Given the description of an element on the screen output the (x, y) to click on. 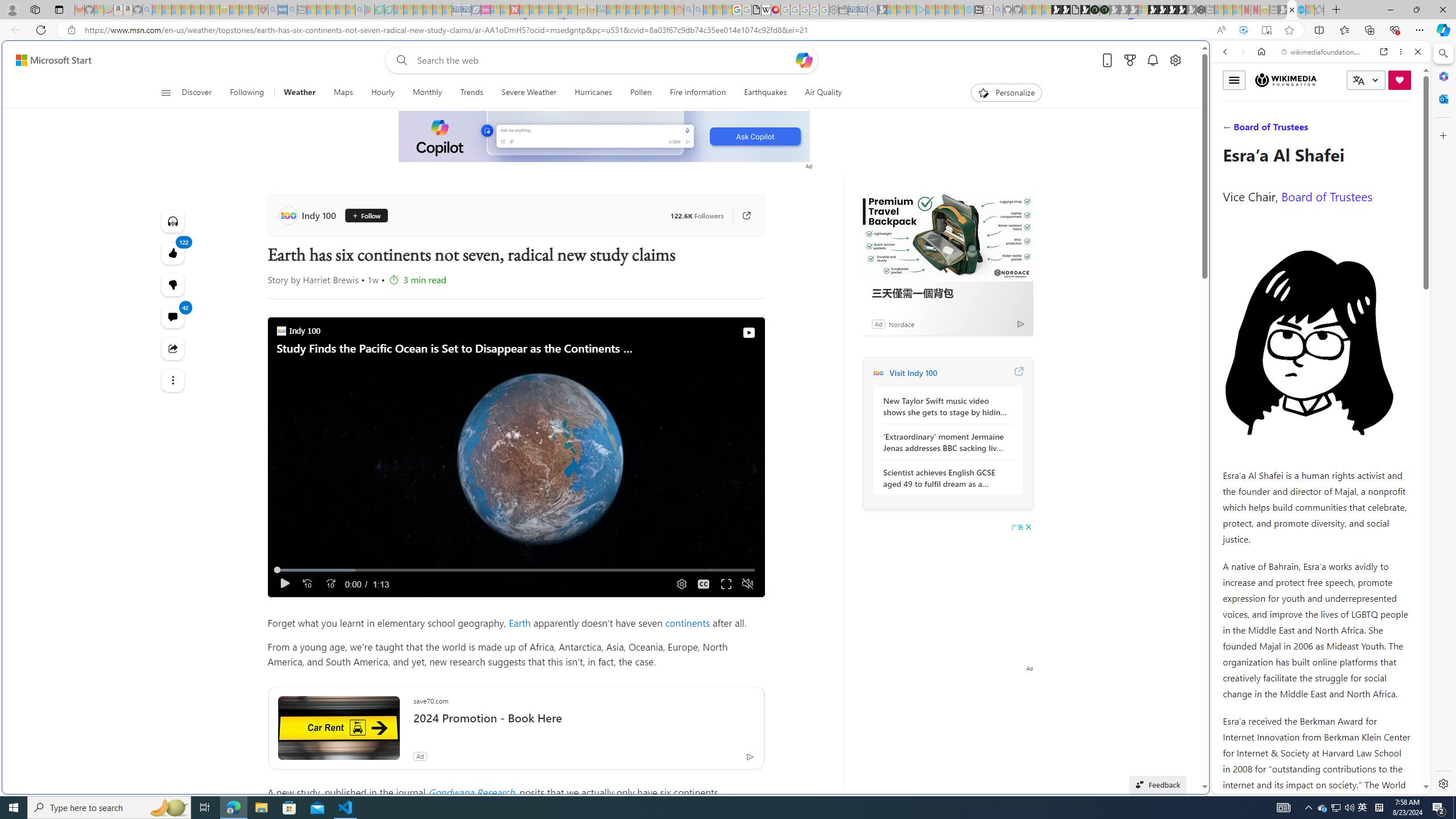
Seek Forward (330, 583)
Earth has six continents not seven, radical new study claims (1291, 9)
Enhance video (1243, 29)
utah sues federal government - Search - Sleeping (291, 9)
WEB   (1230, 130)
AutomationID: cbb (1027, 526)
